Given the description of an element on the screen output the (x, y) to click on. 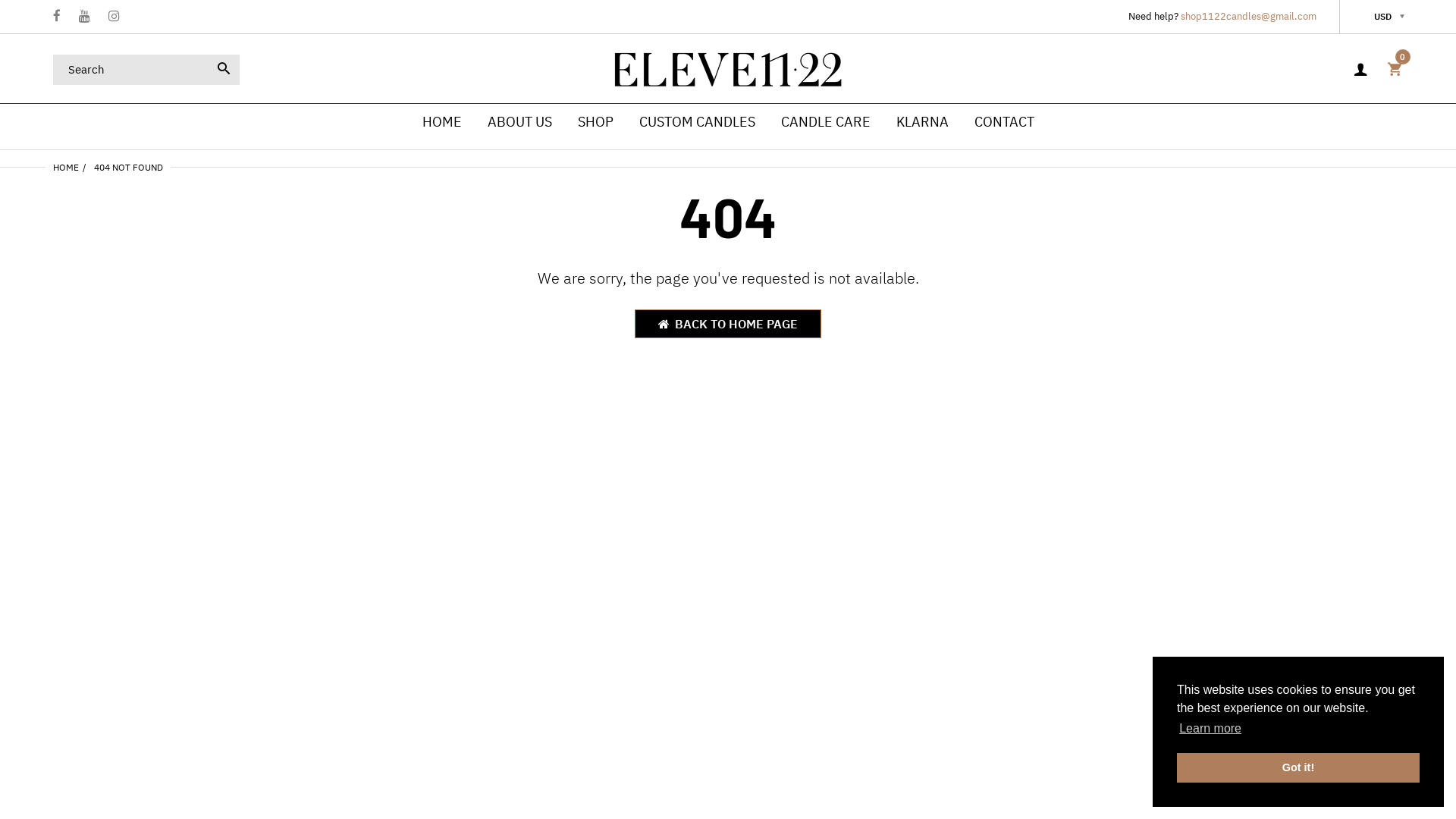
Got it! Element type: text (1297, 767)
Learn more Element type: text (1209, 728)
HOME Element type: text (65, 166)
Sign in Element type: hover (1360, 69)
shop1122candles@gmail.com Element type: text (1248, 15)
YouTube Element type: hover (84, 16)
KLARNA Element type: text (922, 120)
HOME Element type: text (441, 120)
0 Element type: text (1394, 69)
Instagram Element type: hover (113, 16)
ABOUT US Element type: text (518, 120)
Facebook Element type: hover (56, 16)
CUSTOM CANDLES Element type: text (696, 120)
Eleven Twenty Two Candle Co Element type: hover (727, 67)
CANDLE CARE Element type: text (825, 120)
CONTACT Element type: text (1003, 120)
BACK TO HOME PAGE Element type: text (727, 323)
SHOP Element type: text (595, 120)
